Given the description of an element on the screen output the (x, y) to click on. 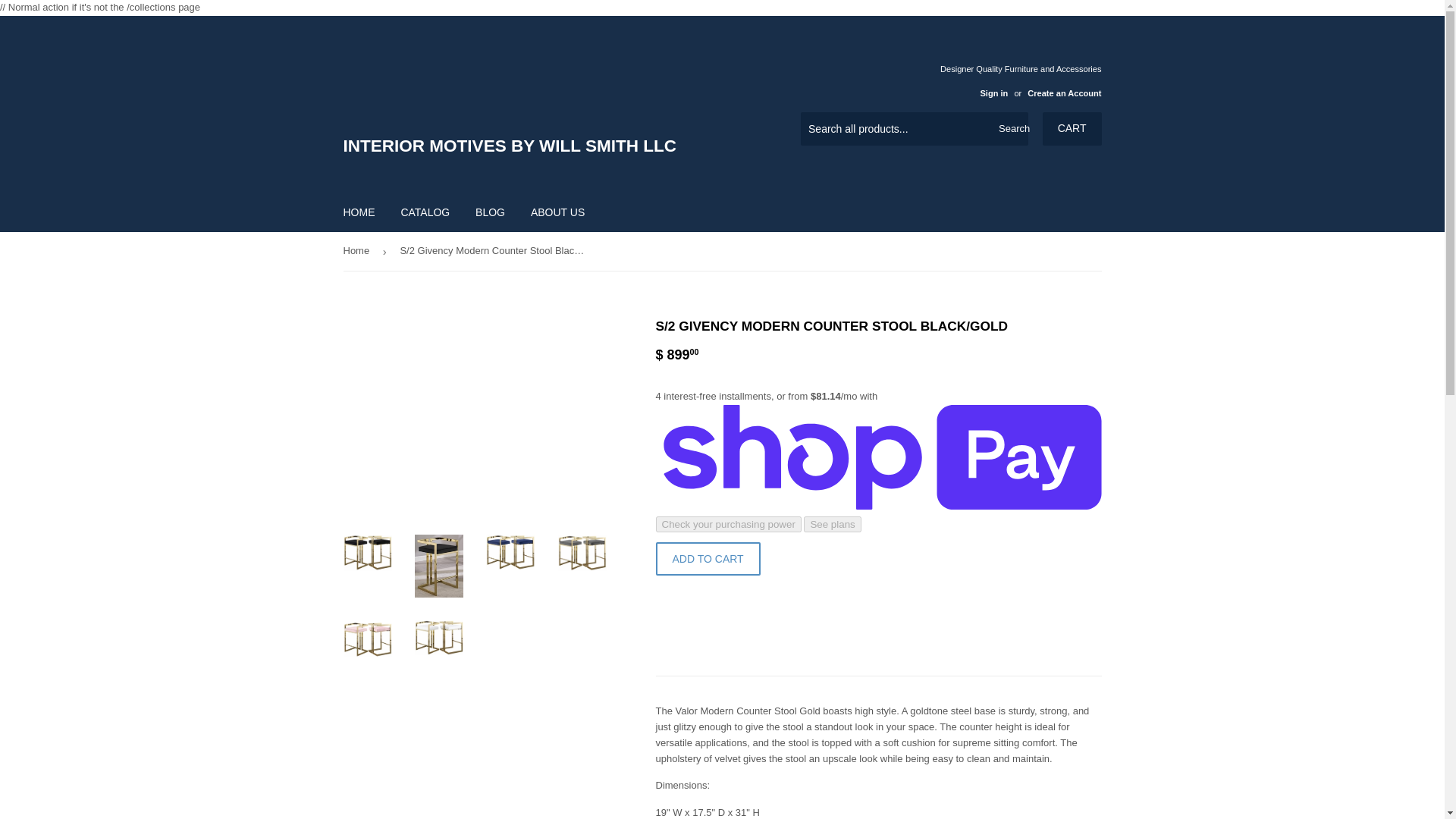
CATALOG (424, 211)
Create an Account (1063, 92)
Search (1010, 129)
BLOG (490, 211)
CART (1072, 128)
INTERIOR MOTIVES BY WILL SMITH LLC (532, 103)
Sign in (993, 92)
HOME (359, 211)
ABOUT US (557, 211)
ADD TO CART (707, 558)
